Given the description of an element on the screen output the (x, y) to click on. 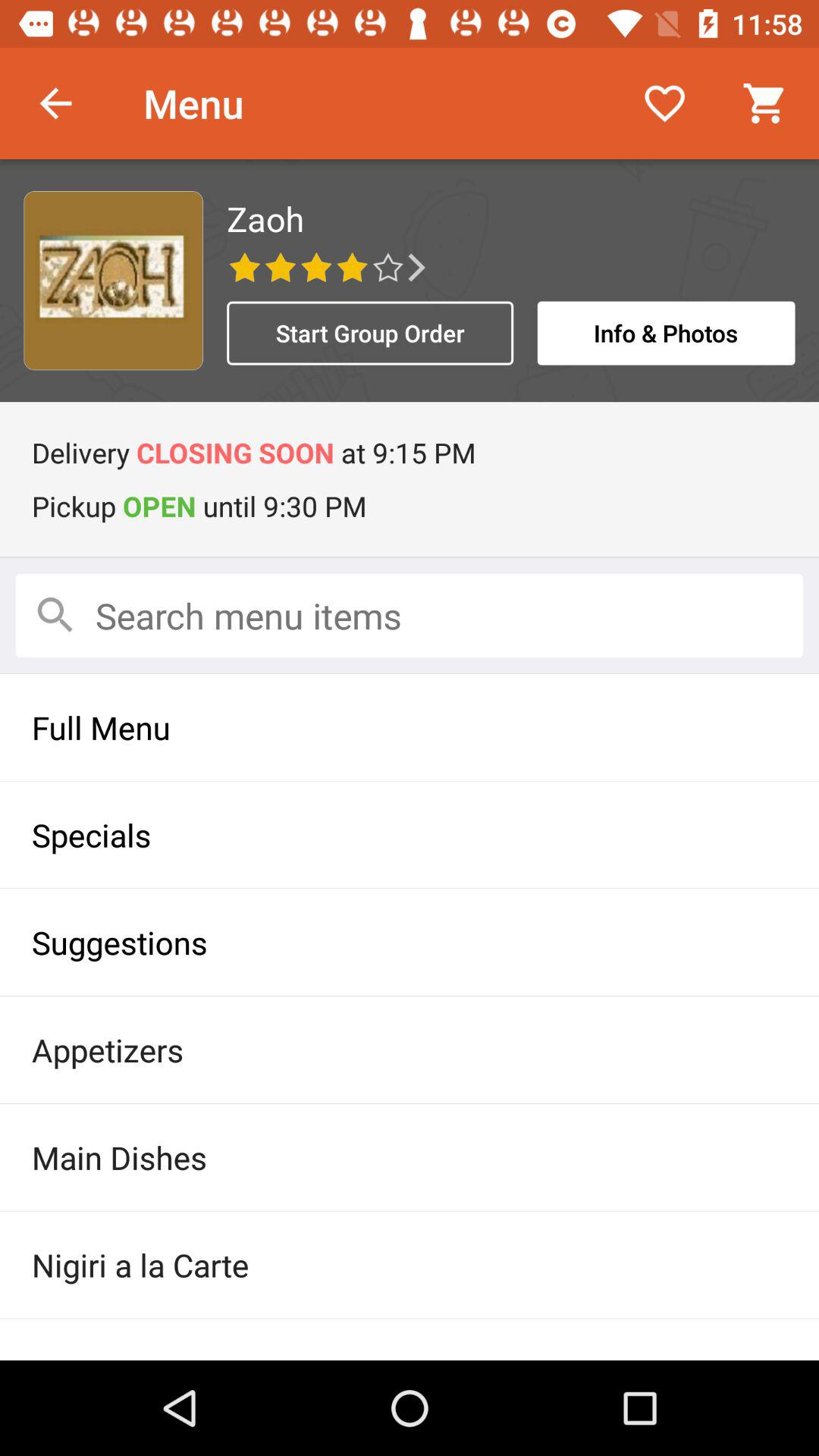
search menu (409, 615)
